Given the description of an element on the screen output the (x, y) to click on. 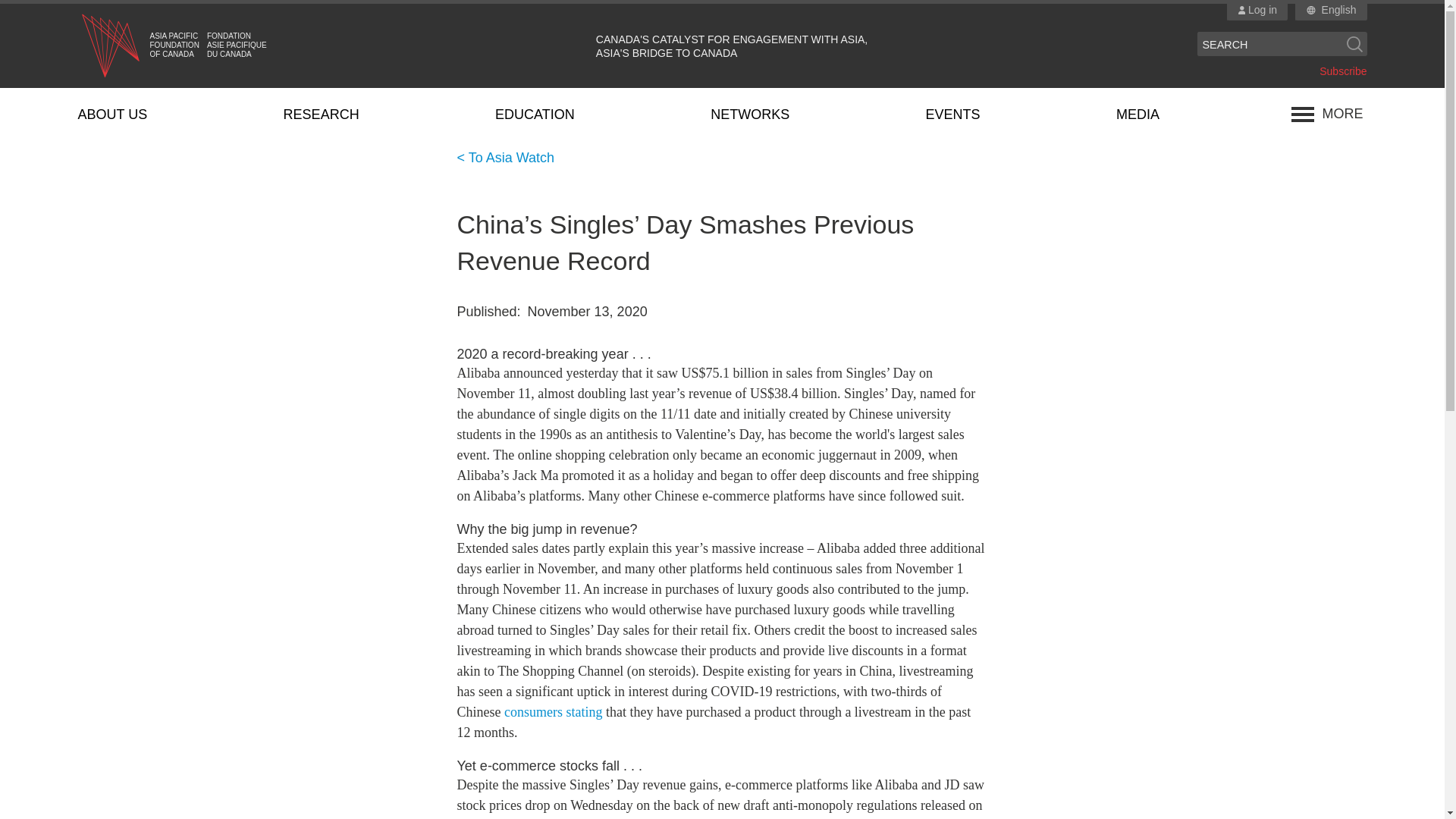
Search (1353, 44)
Subscribe (1343, 70)
Search (1353, 44)
SEARCH (1269, 43)
English (1339, 10)
Log in (1257, 10)
